Given the description of an element on the screen output the (x, y) to click on. 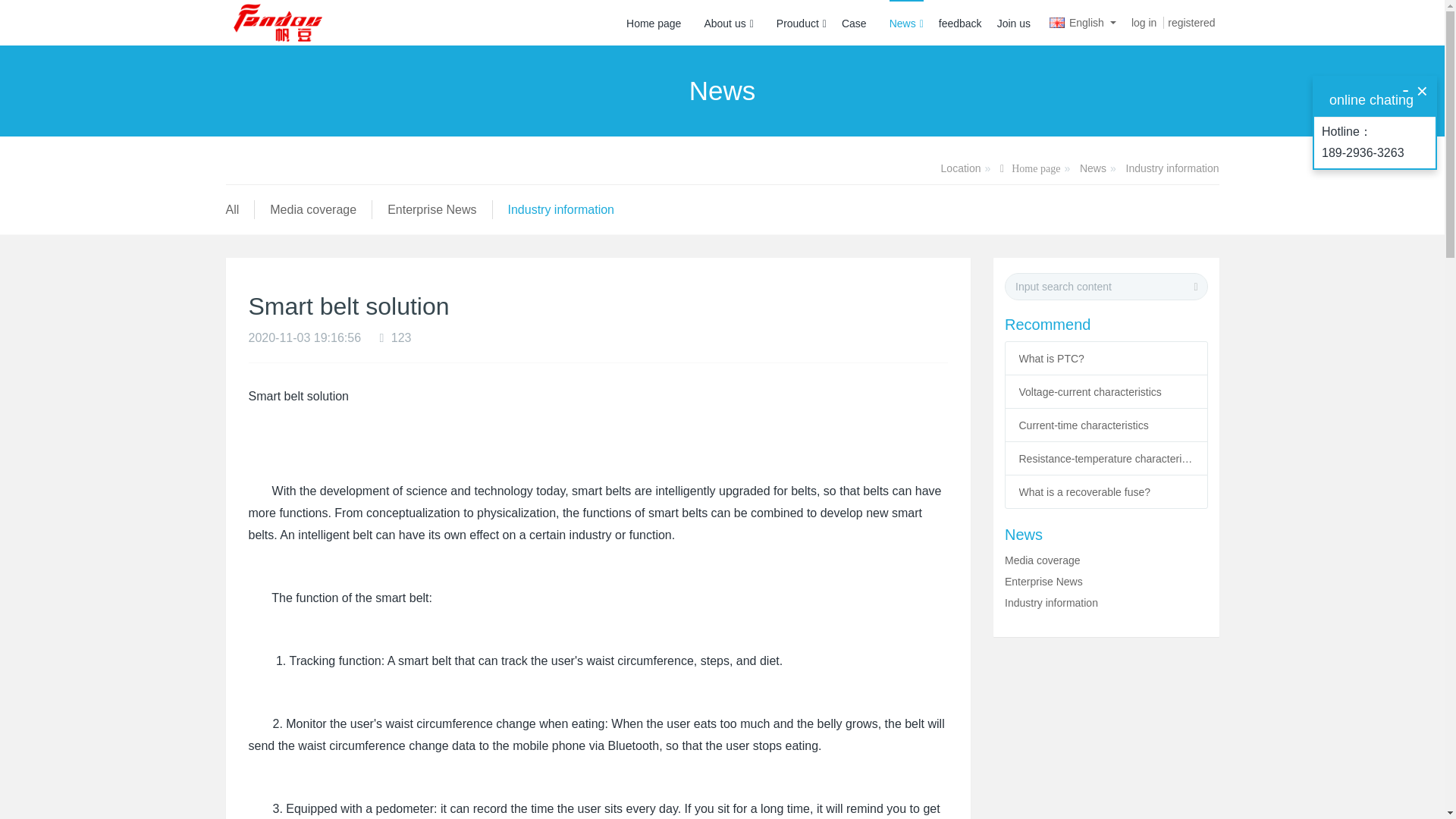
Enterprise News (431, 209)
Media coverage (312, 209)
Home page (653, 22)
registered (1190, 19)
Industry information (561, 209)
log in (1143, 18)
Prouduct (801, 22)
About us (727, 22)
All (232, 209)
Industry information (1172, 168)
